Given the description of an element on the screen output the (x, y) to click on. 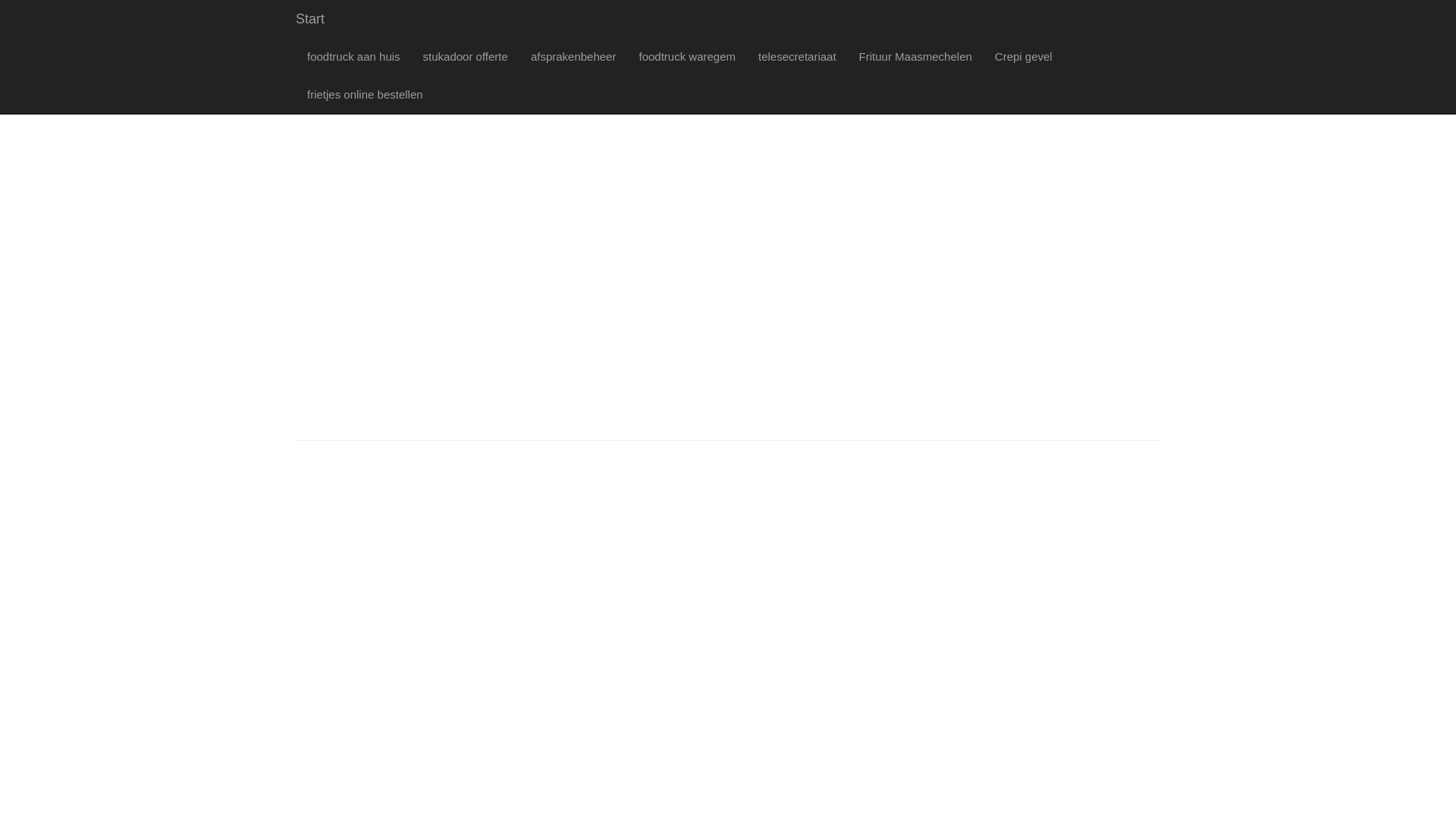
frietjes online bestellen Element type: text (364, 94)
Frituur Maasmechelen Element type: text (915, 56)
stukadoor offerte Element type: text (465, 56)
Crepi gevel Element type: text (1023, 56)
Start Element type: text (309, 18)
afsprakenbeheer Element type: text (573, 56)
telesecretariaat Element type: text (796, 56)
foodtruck aan huis Element type: text (353, 56)
foodtruck waregem Element type: text (686, 56)
